Given the description of an element on the screen output the (x, y) to click on. 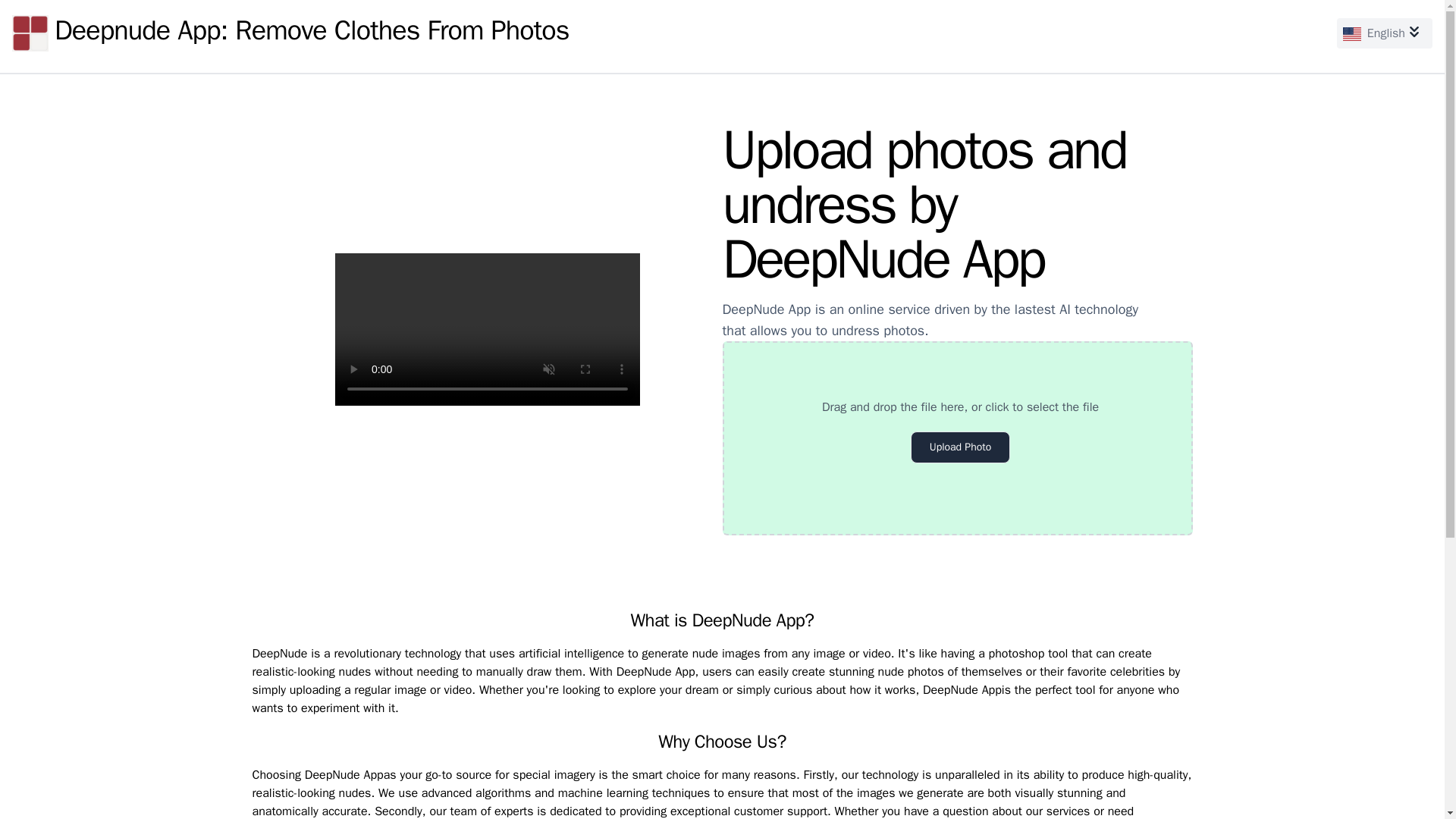
English (1384, 33)
Deepnude App: Remove Clothes From Photos (290, 33)
